Given the description of an element on the screen output the (x, y) to click on. 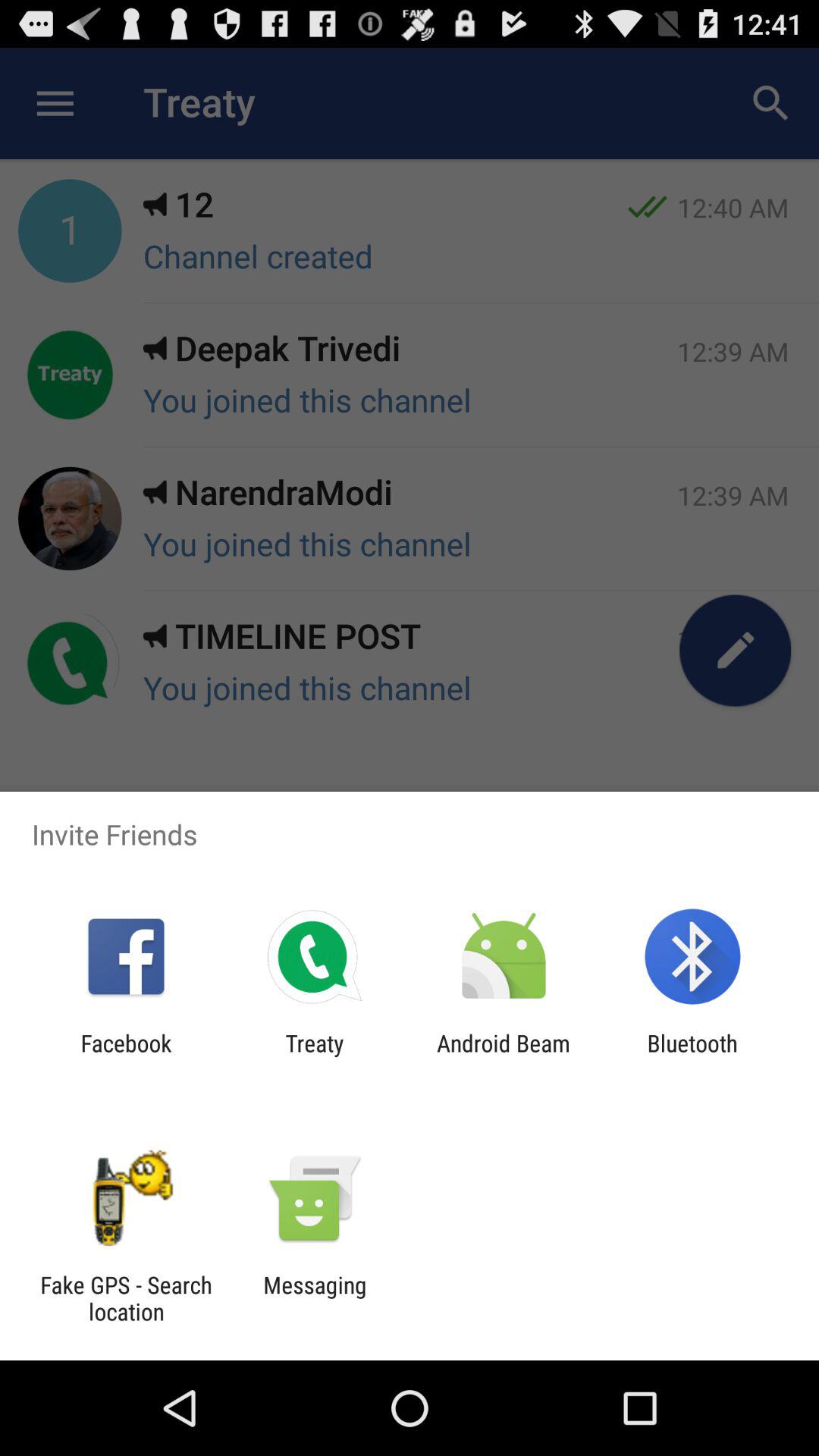
swipe to the fake gps search icon (125, 1298)
